Given the description of an element on the screen output the (x, y) to click on. 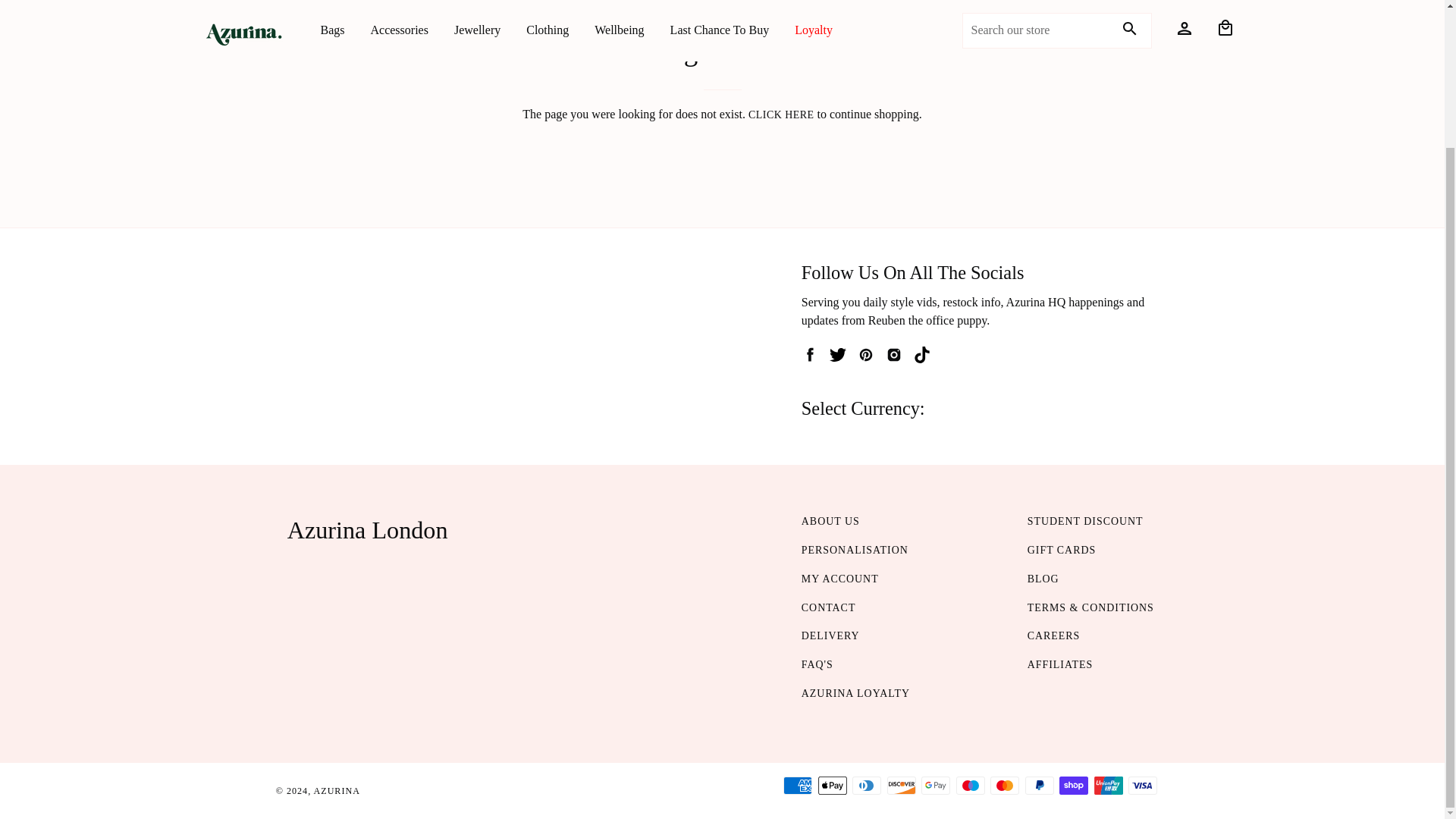
Azurina on Instagram (895, 359)
Maestro (970, 785)
Shop Pay (1073, 785)
Apple Pay (832, 785)
Visa (1142, 785)
Azurina on Twitter (838, 359)
Union Pay (1108, 785)
Mastercard (1004, 785)
Diners Club (865, 785)
Azurina on Tiktok (923, 359)
